Given the description of an element on the screen output the (x, y) to click on. 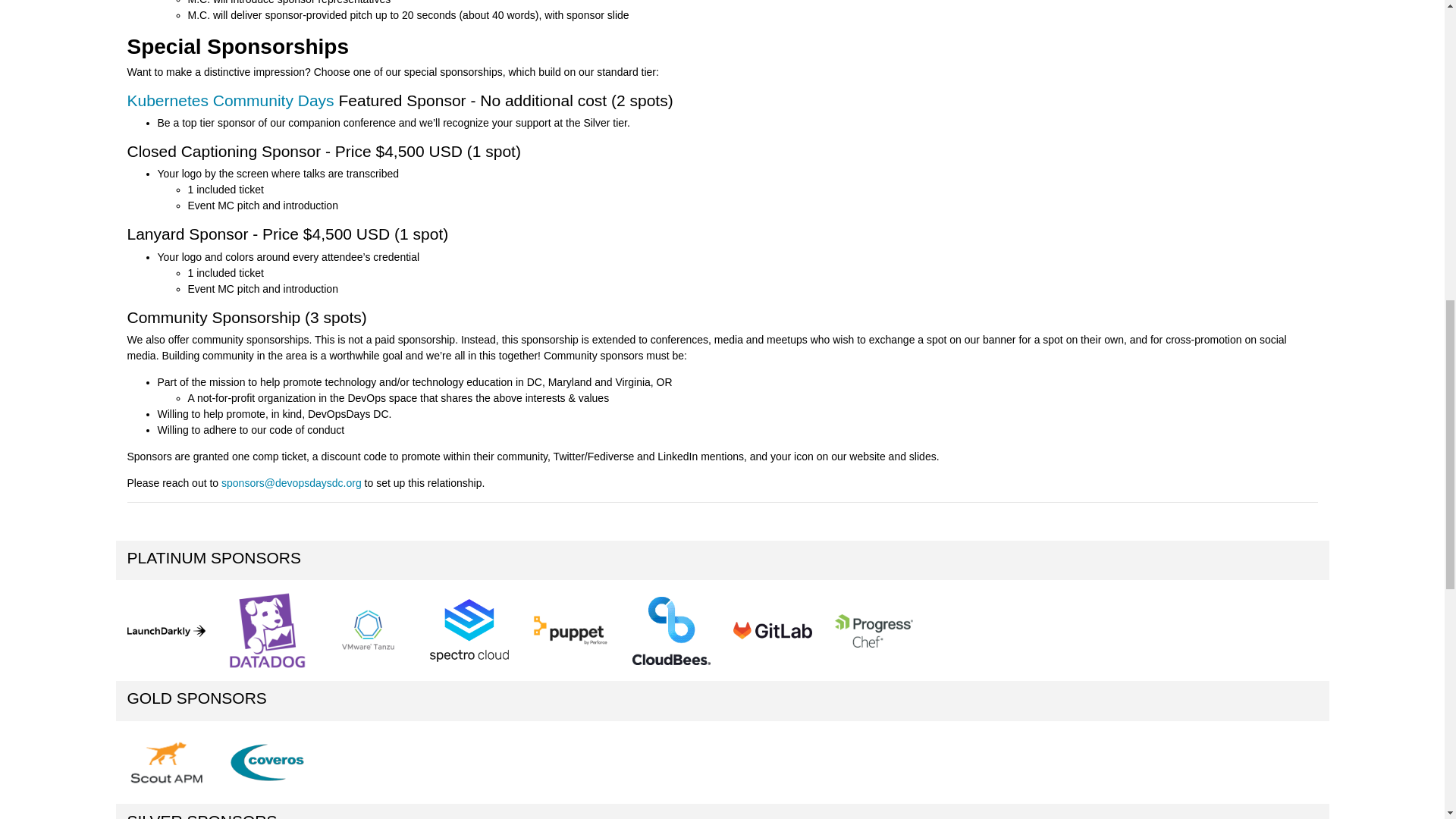
GitLab (771, 630)
Scout (166, 762)
progresschef (873, 630)
Kubernetes Community Days (231, 99)
Datadog (266, 630)
LaunchDarkly (166, 630)
VMware Tanzu (368, 630)
spectrocloud (468, 629)
Puppet by Perforce (570, 630)
cloudbees (670, 631)
coveros (266, 762)
